Given the description of an element on the screen output the (x, y) to click on. 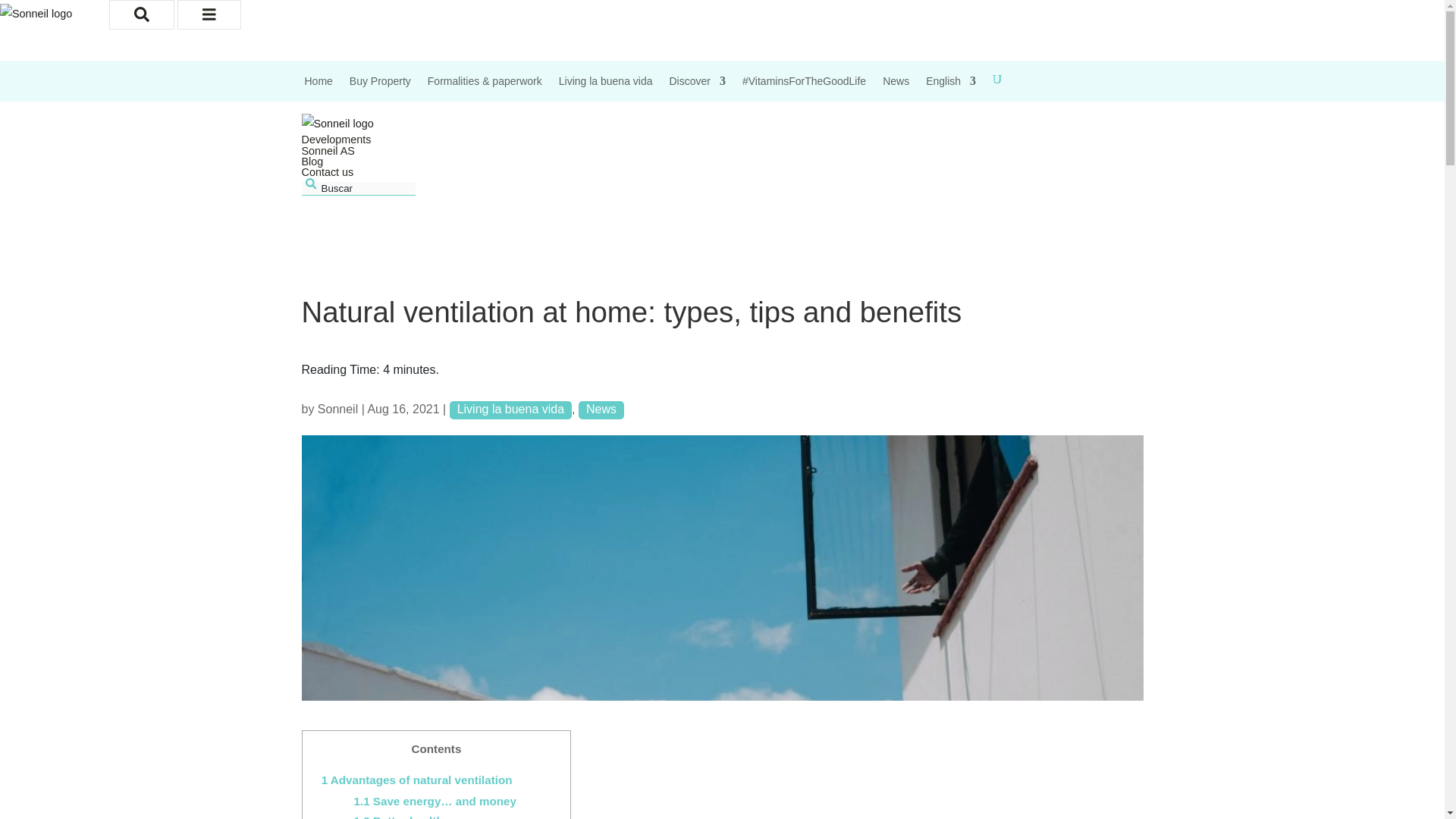
Developments (336, 139)
Contact us (327, 172)
Contact us (327, 172)
Developments (336, 139)
Home (318, 88)
Blog (312, 161)
Living la buena vida (605, 88)
Sonneil AS (328, 150)
Buy Property (379, 88)
Sonneil AS (328, 150)
